Given the description of an element on the screen output the (x, y) to click on. 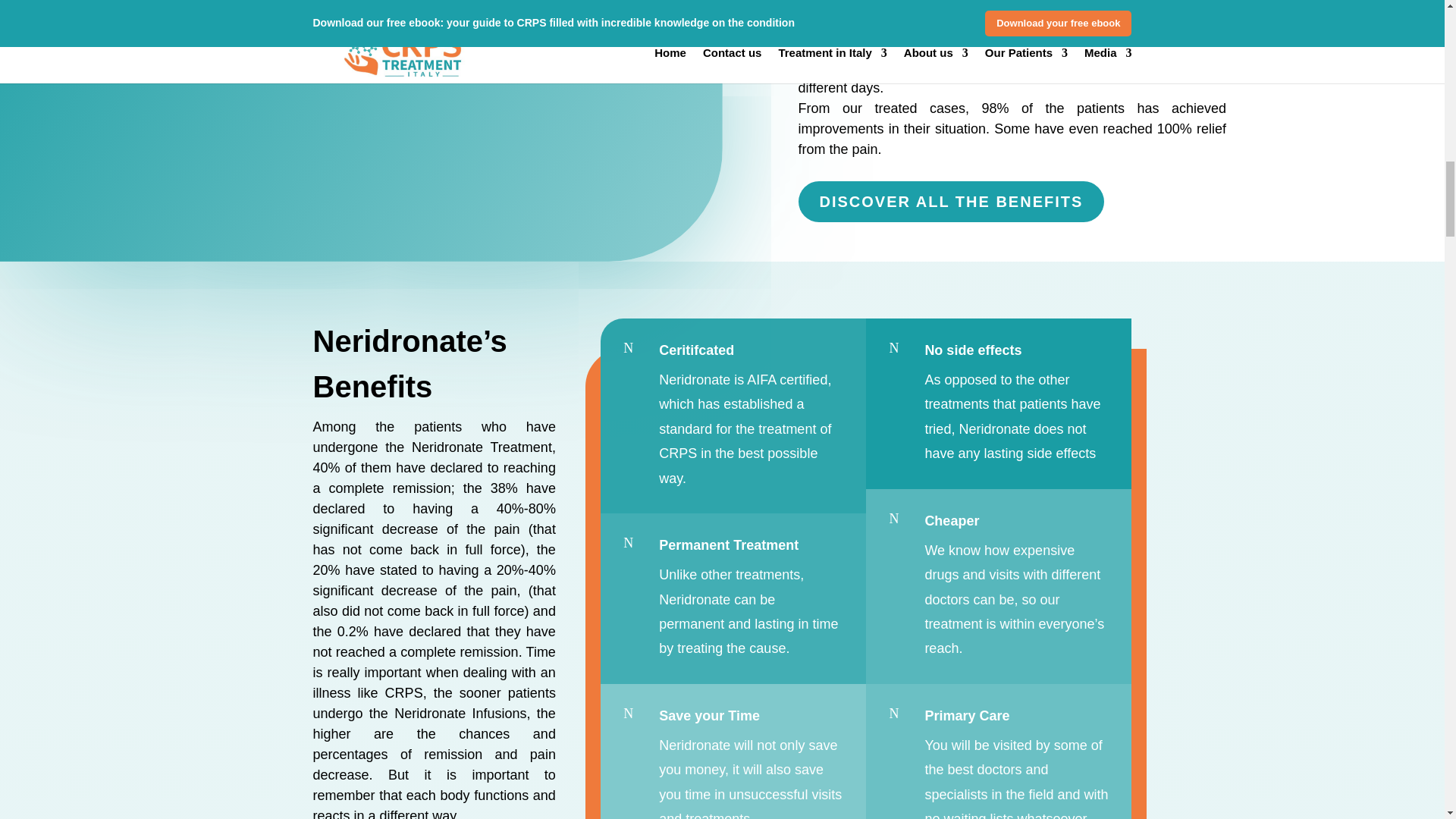
DISCOVER ALL THE BENEFITS (950, 200)
